Given the description of an element on the screen output the (x, y) to click on. 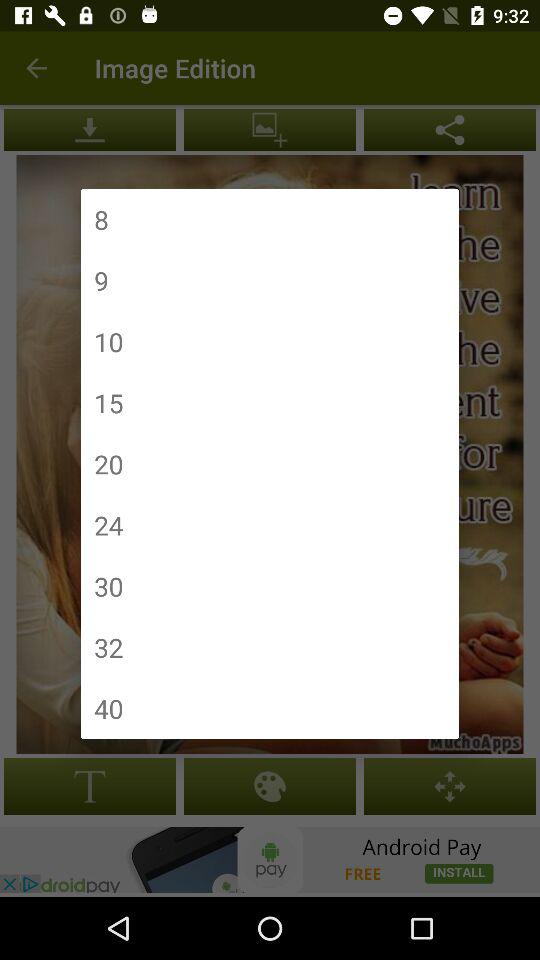
swipe to the 30 item (108, 585)
